Given the description of an element on the screen output the (x, y) to click on. 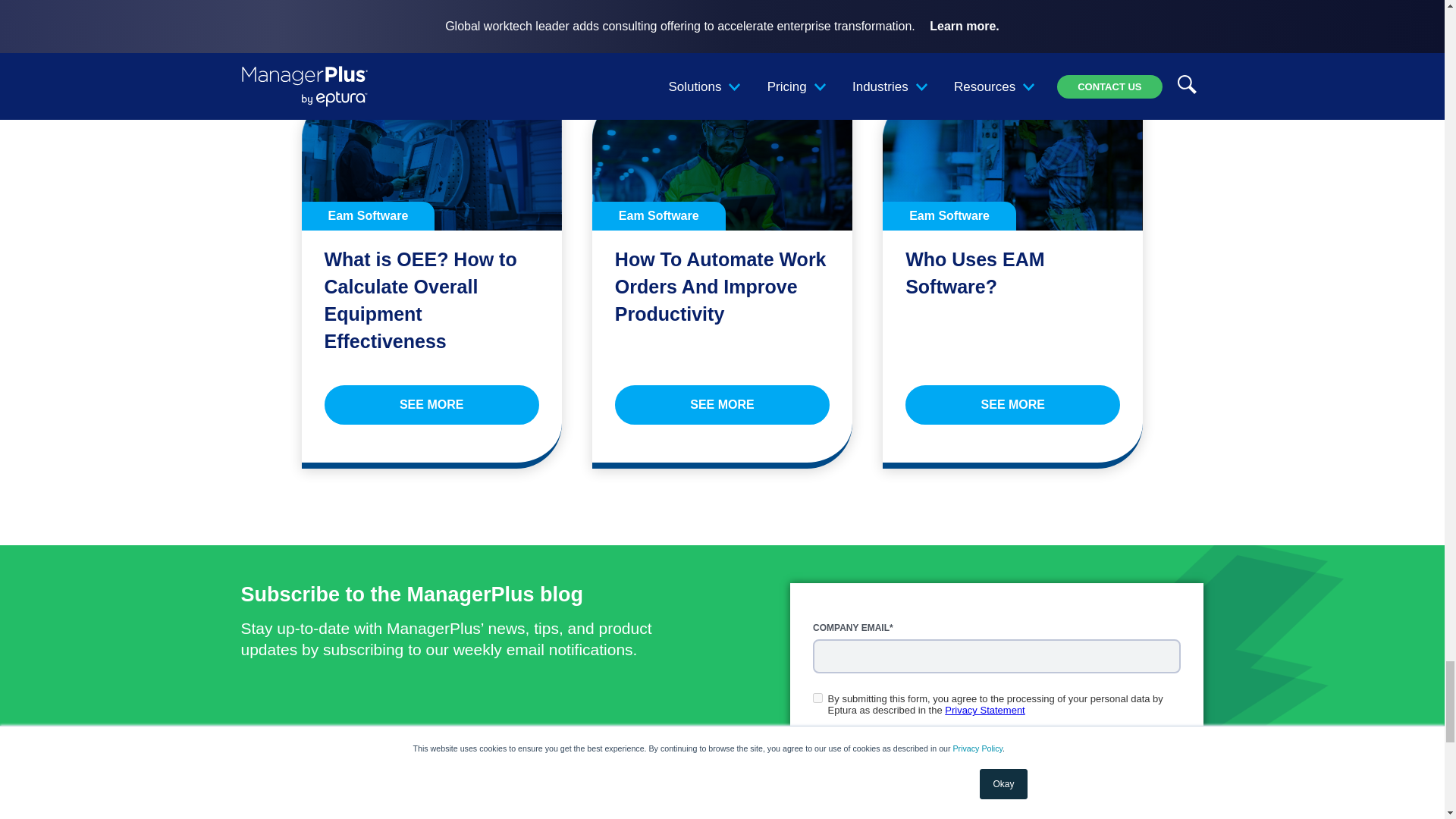
yes (817, 697)
